Given the description of an element on the screen output the (x, y) to click on. 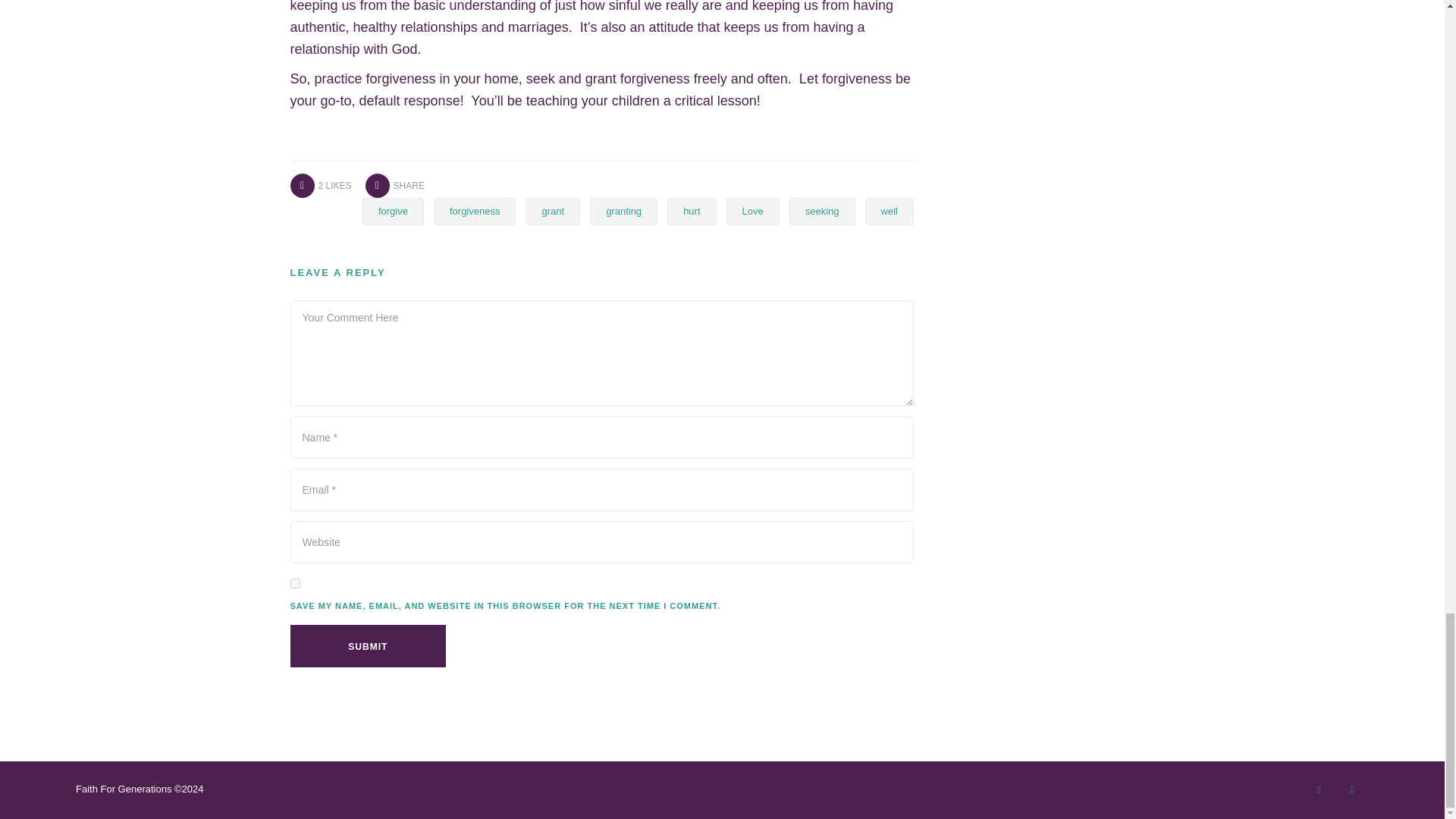
well (889, 211)
forgiveness (474, 211)
forgive (392, 211)
hurt (691, 211)
granting (623, 211)
Love (752, 211)
SHARE (394, 185)
yes (294, 583)
seeking (822, 211)
grant (552, 211)
